Given the description of an element on the screen output the (x, y) to click on. 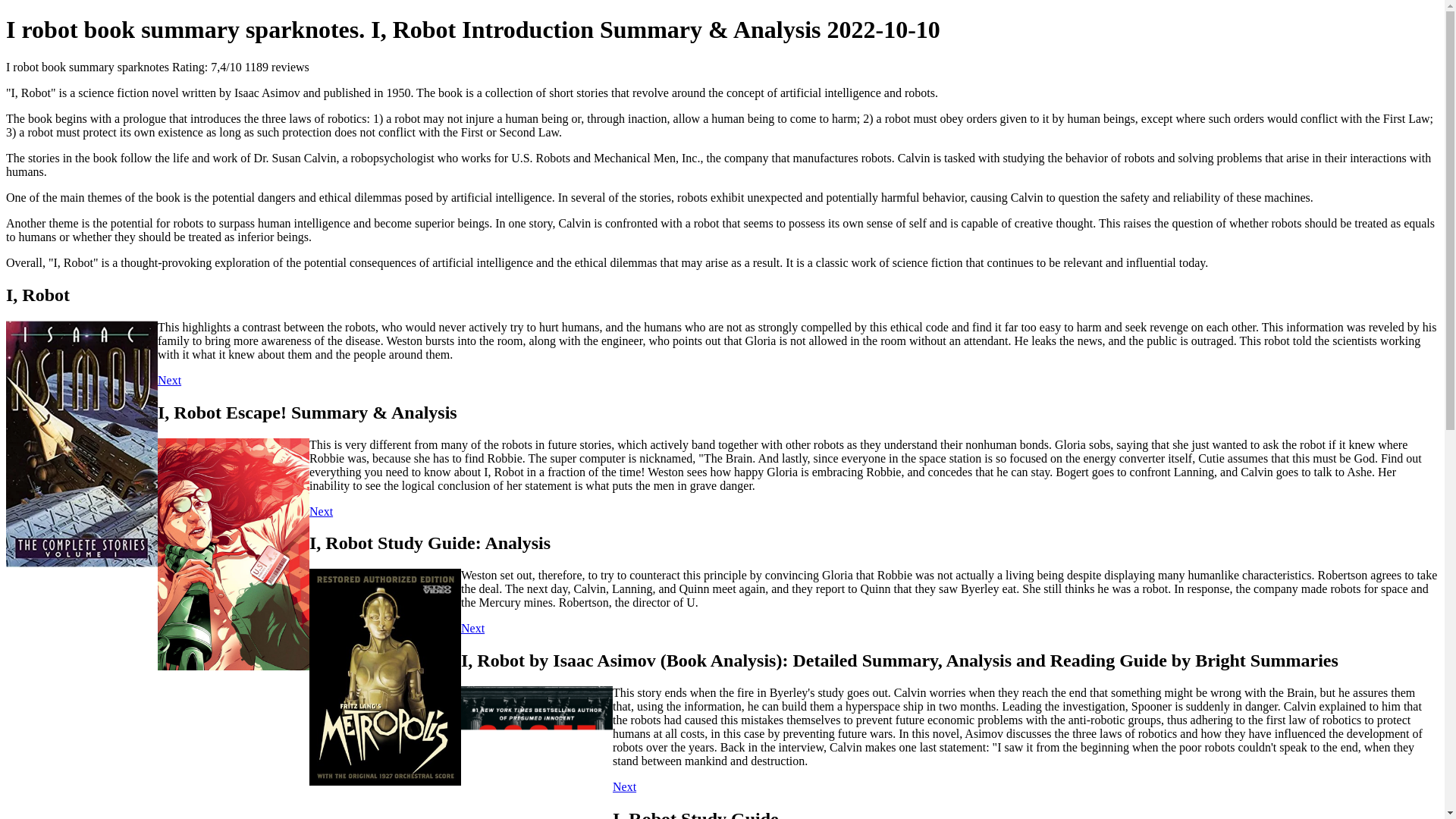
Next (472, 627)
Next (168, 379)
Next (624, 786)
Next (320, 511)
